Given the description of an element on the screen output the (x, y) to click on. 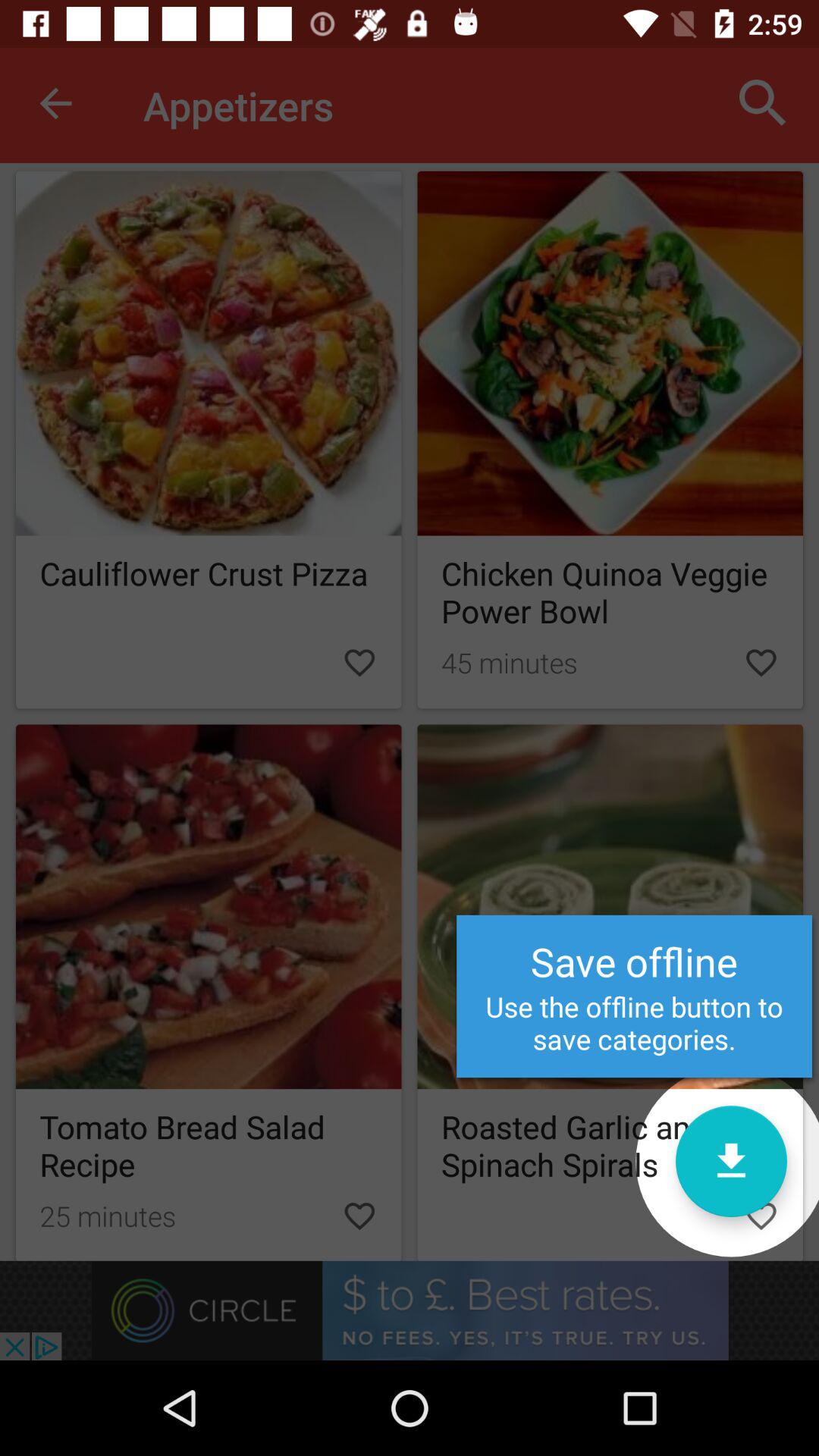
download (731, 1161)
